Given the description of an element on the screen output the (x, y) to click on. 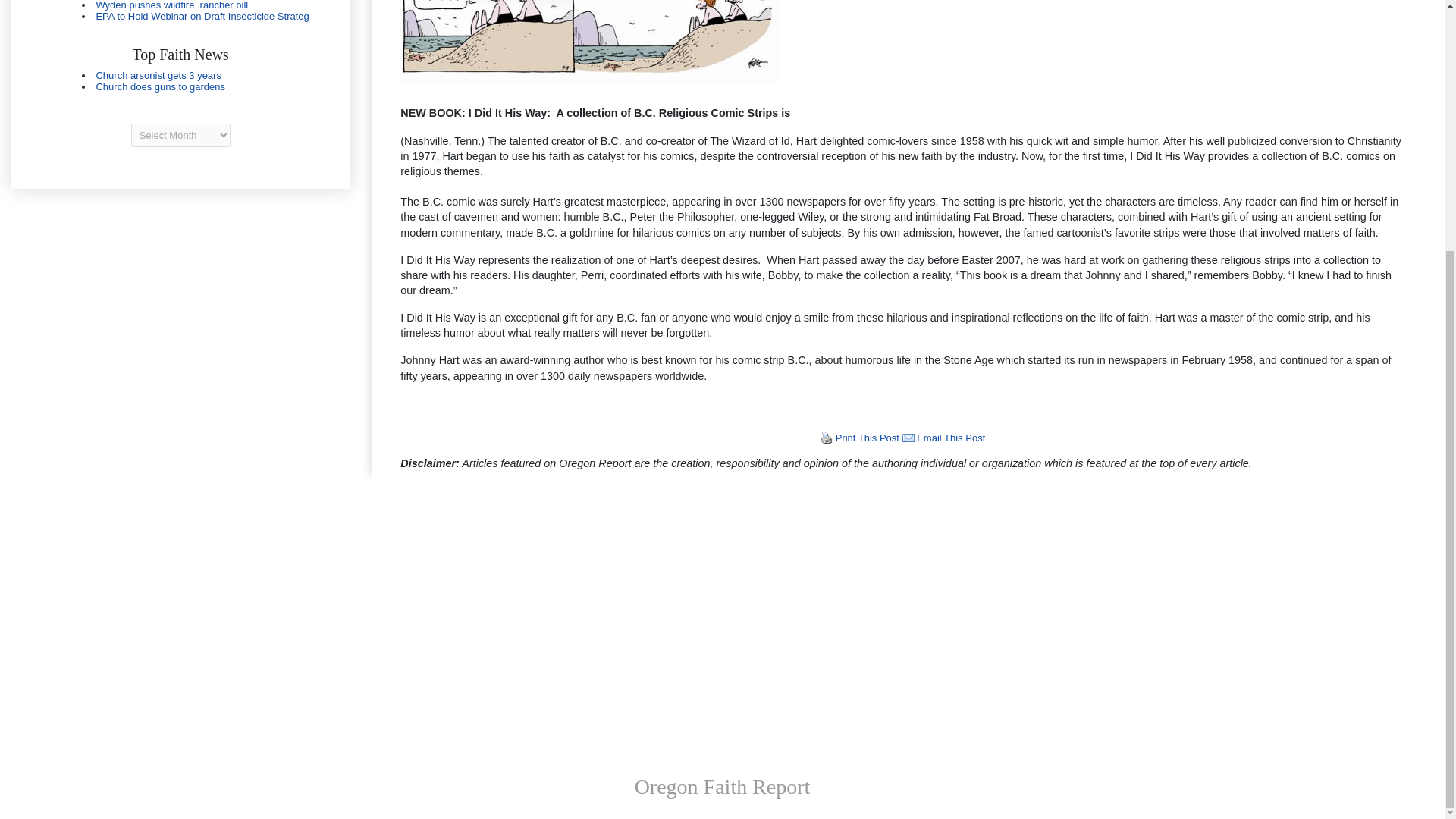
Oregon (179, 11)
EPA to Hold Webinar on Draft Insecticide Strategy (202, 16)
Print This Post (826, 437)
Church does guns to gardens (160, 86)
Church arsonist gets 3 years (158, 75)
Email This Post (908, 437)
Wyden pushes wildfire, rancher bill (171, 5)
Oregon Faith Report (722, 786)
Print This Post (867, 437)
Print This Post (826, 438)
